Given the description of an element on the screen output the (x, y) to click on. 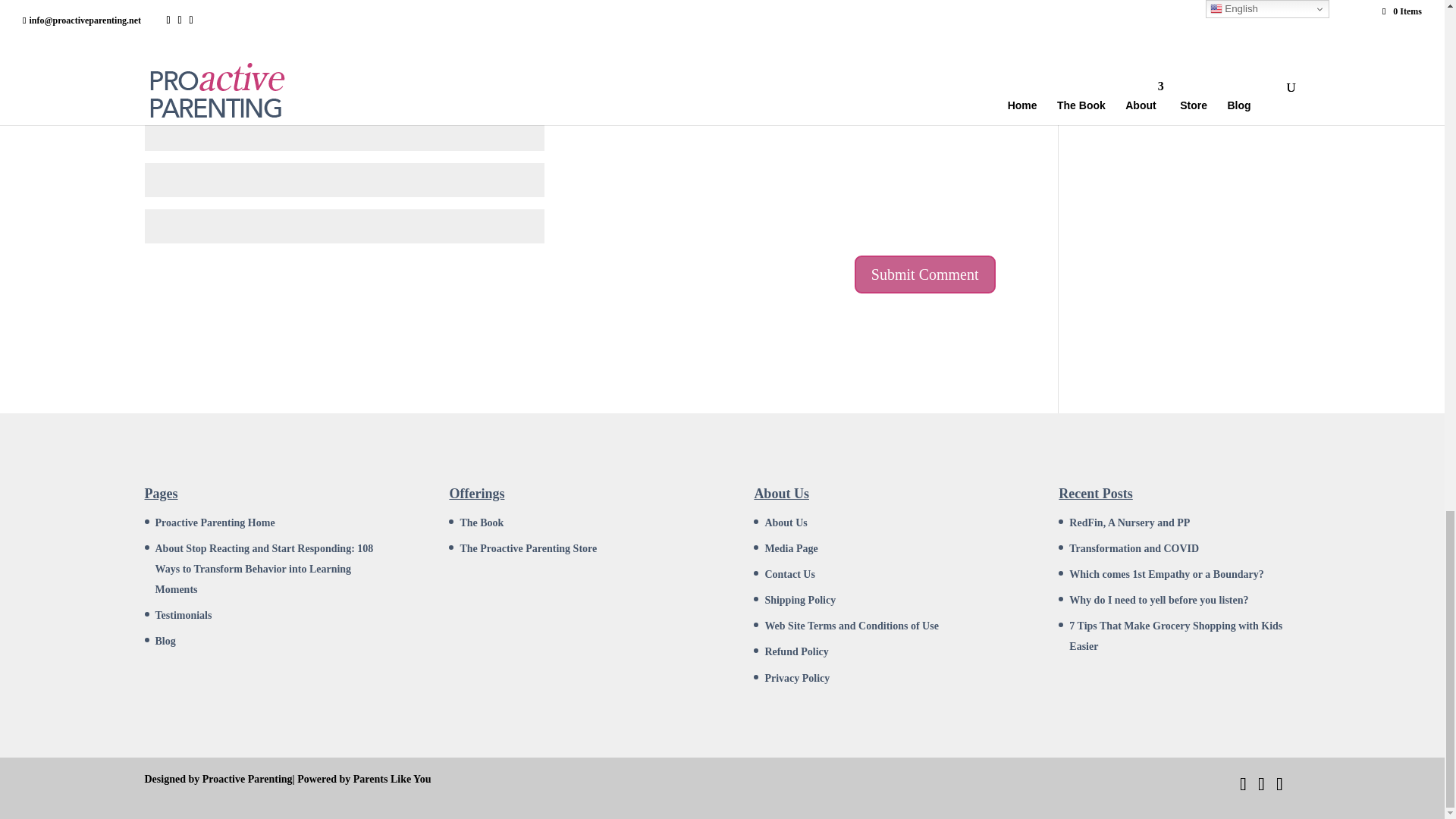
Proactive Parenting Home (214, 522)
Submit Comment (924, 274)
Testimonials (182, 614)
Submit Comment (924, 274)
